Given the description of an element on the screen output the (x, y) to click on. 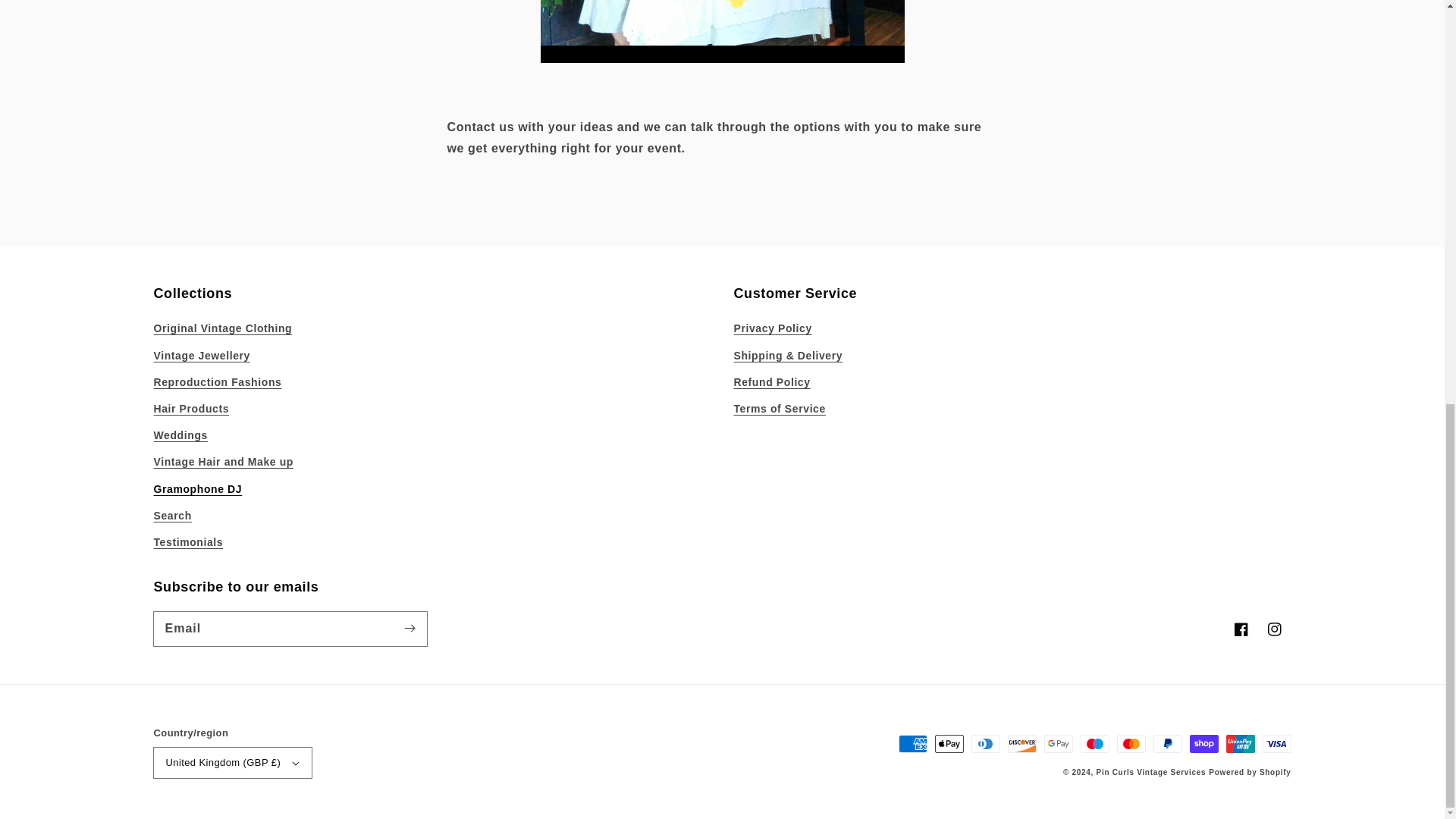
Original Vintage Clothing (222, 330)
